Given the description of an element on the screen output the (x, y) to click on. 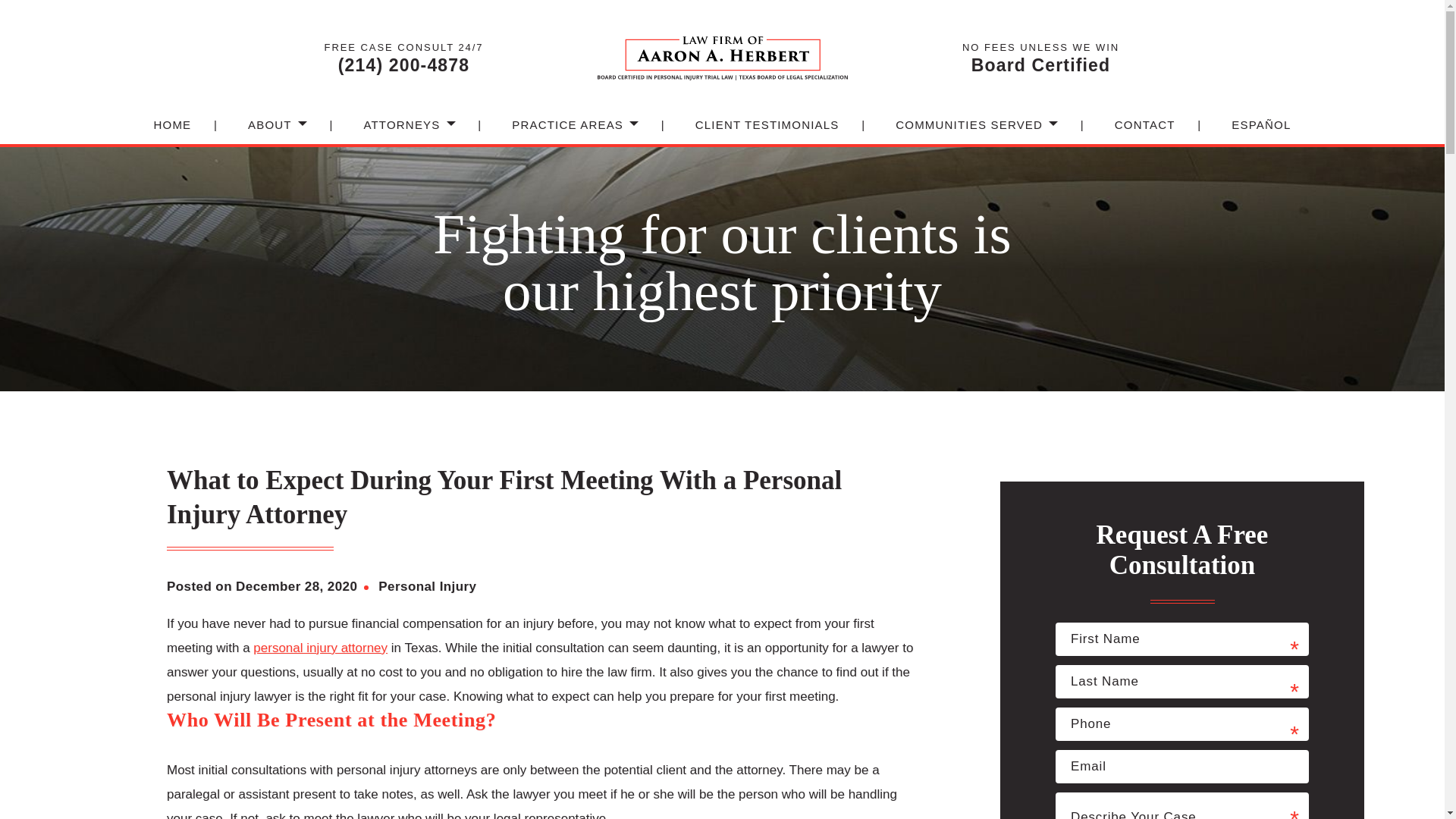
CLIENT TESTIMONIALS (767, 133)
HOME (171, 133)
PRACTICE AREAS (567, 133)
ABOUT (269, 133)
ATTORNEYS (400, 133)
COMMUNITIES SERVED (968, 133)
